Given the description of an element on the screen output the (x, y) to click on. 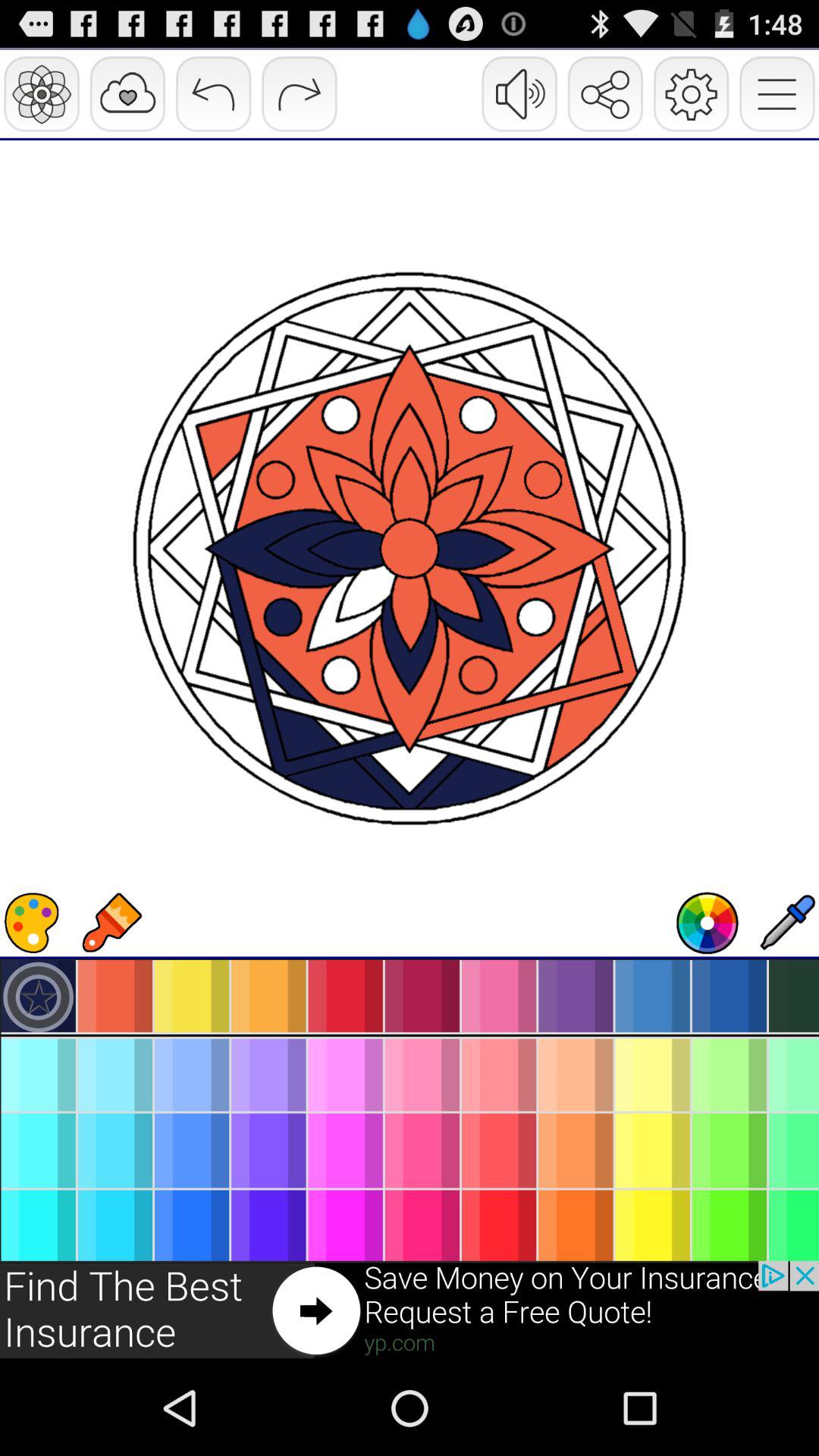
add drop (787, 922)
